Given the description of an element on the screen output the (x, y) to click on. 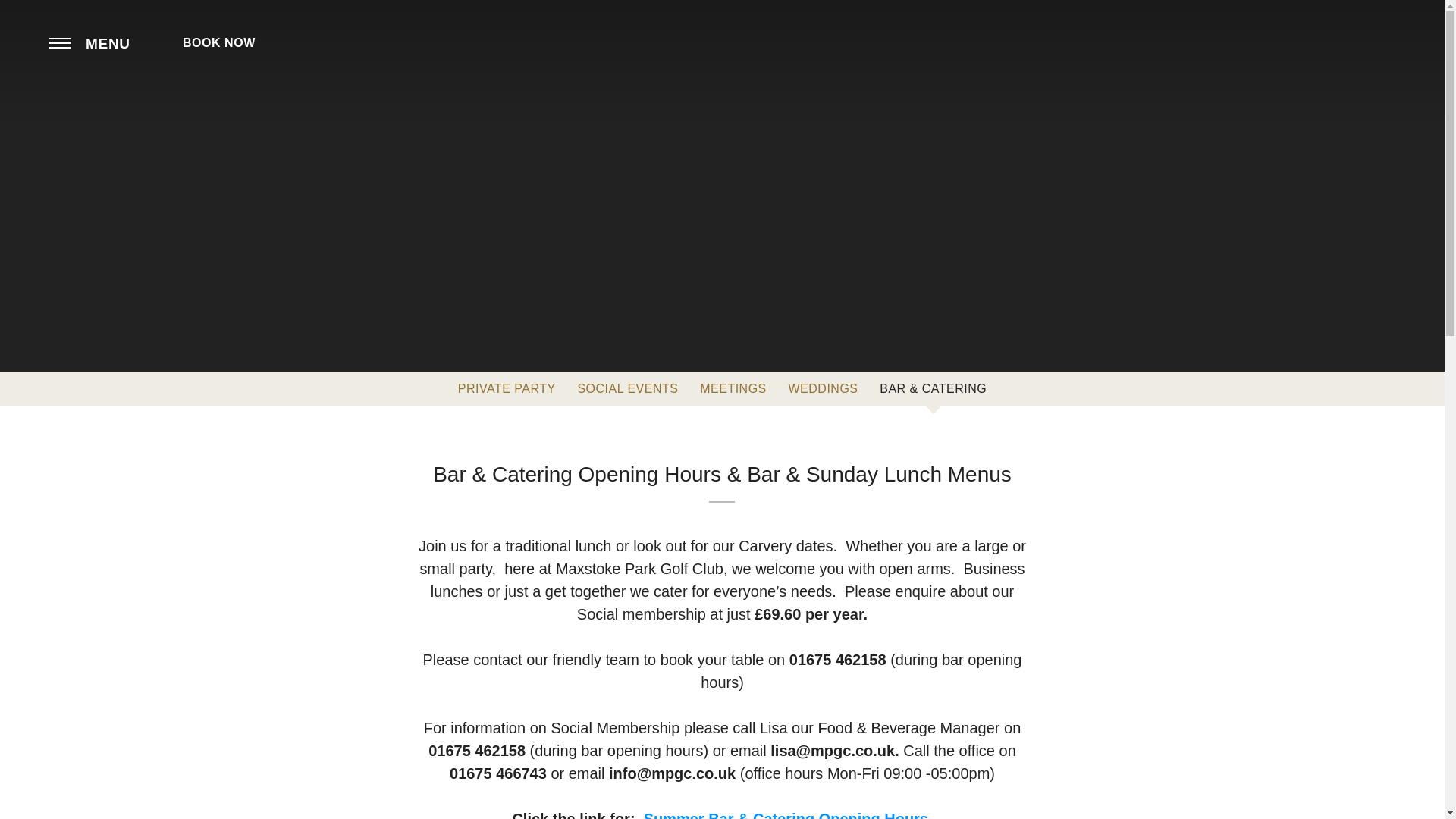
BOOK NOW (226, 42)
MAXSTOKE PARK GOLF CLUB (722, 63)
MENU (89, 43)
